Given the description of an element on the screen output the (x, y) to click on. 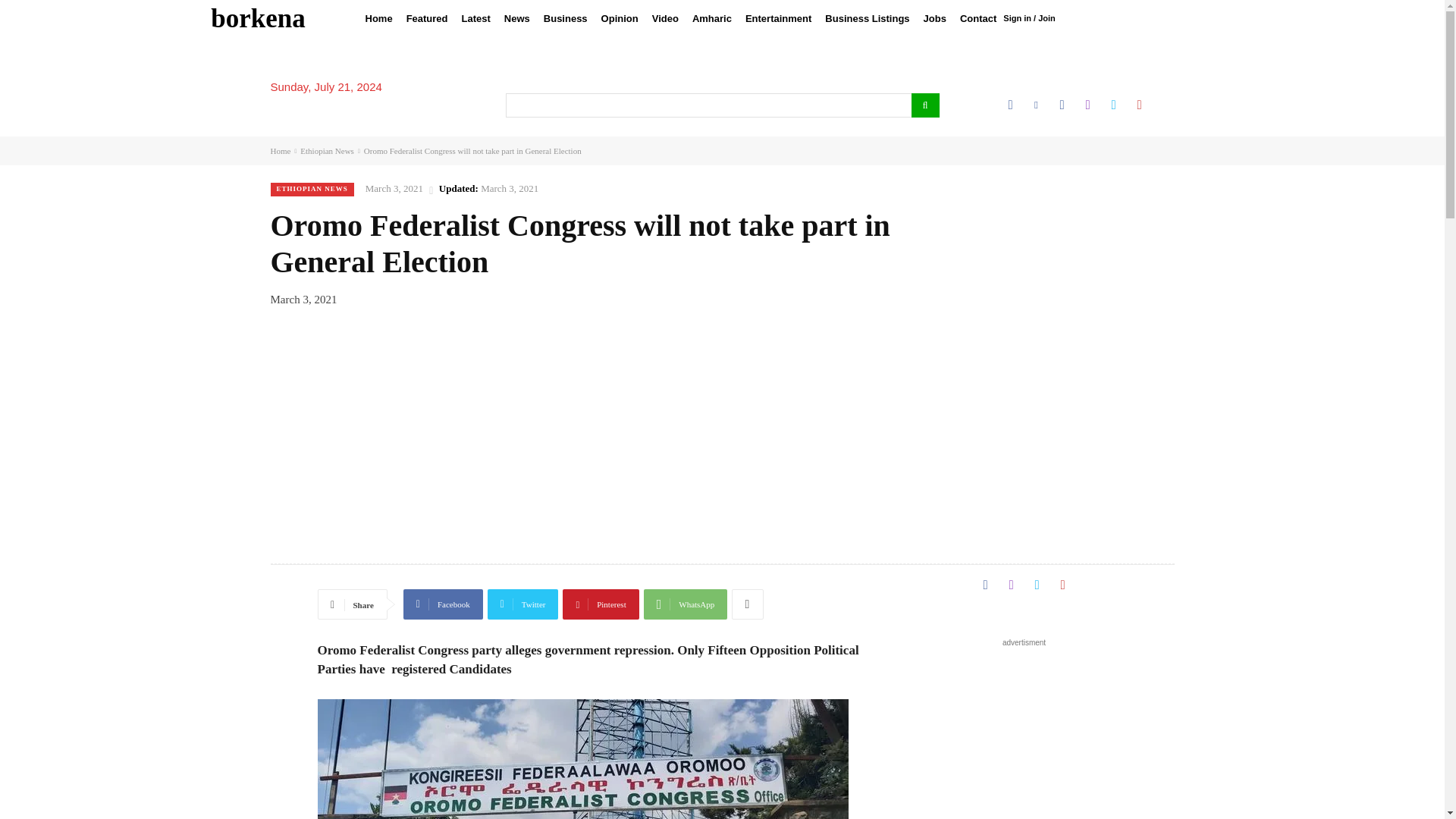
Contact (978, 18)
Latest (475, 18)
News (517, 18)
Amharic (711, 18)
Ethiopian News and Opinion  (257, 18)
Video (665, 18)
Business (565, 18)
Entertainment (778, 18)
Opinion (619, 18)
Featured (426, 18)
Jobs (935, 18)
borkena (257, 18)
Business Listings (866, 18)
Home (378, 18)
